Given the description of an element on the screen output the (x, y) to click on. 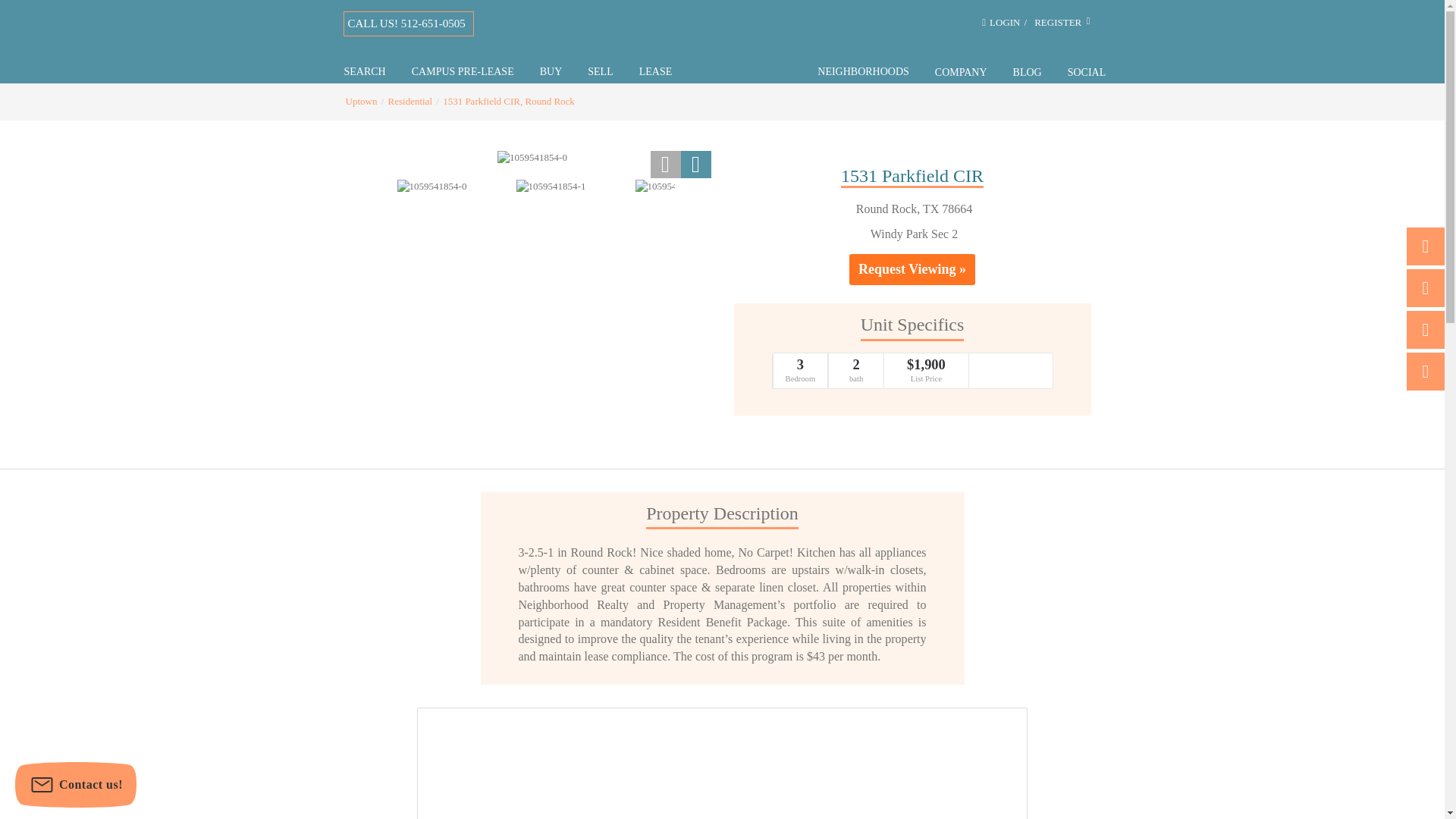
Uptown Realty Austin (744, 38)
LOGIN (1005, 22)
Properties For Rent Near UT Austin (462, 71)
SEARCH (364, 71)
CALL US! 512-651-0505 (405, 23)
NEIGHBORHOODS (862, 71)
CAMPUS PRE-LEASE (462, 71)
LEASE (655, 71)
BUY (551, 71)
SELL (600, 71)
REGISTER   (1063, 22)
